Given the description of an element on the screen output the (x, y) to click on. 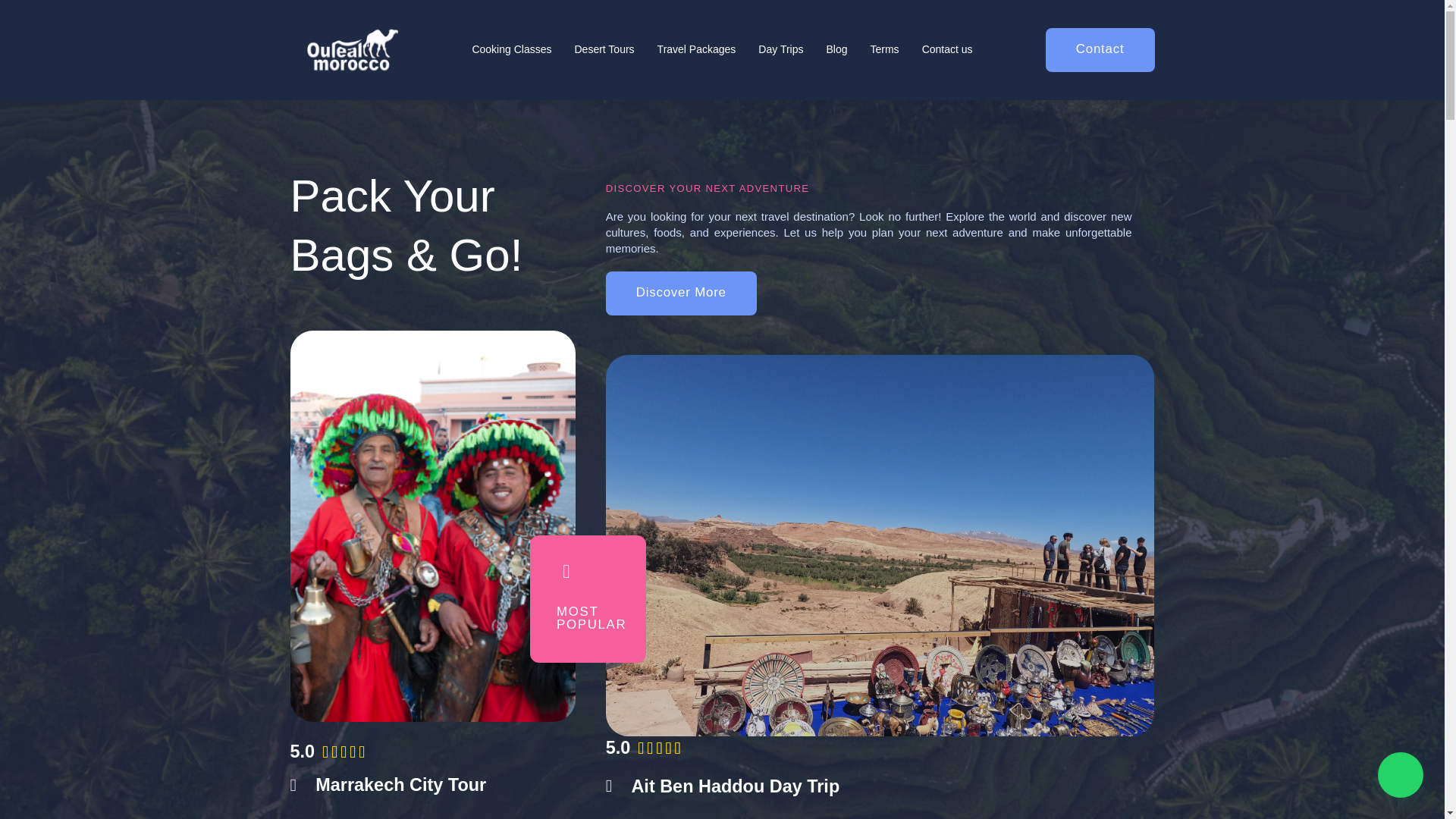
Cooking Classes (511, 50)
Ait Ben Haddou Day Trip (879, 786)
Discover More (681, 371)
Contact (1099, 49)
Terms (884, 50)
Travel Packages (697, 50)
Contact us (947, 50)
Desert Tours (603, 50)
Blog (836, 50)
Day Trips (779, 50)
